Given the description of an element on the screen output the (x, y) to click on. 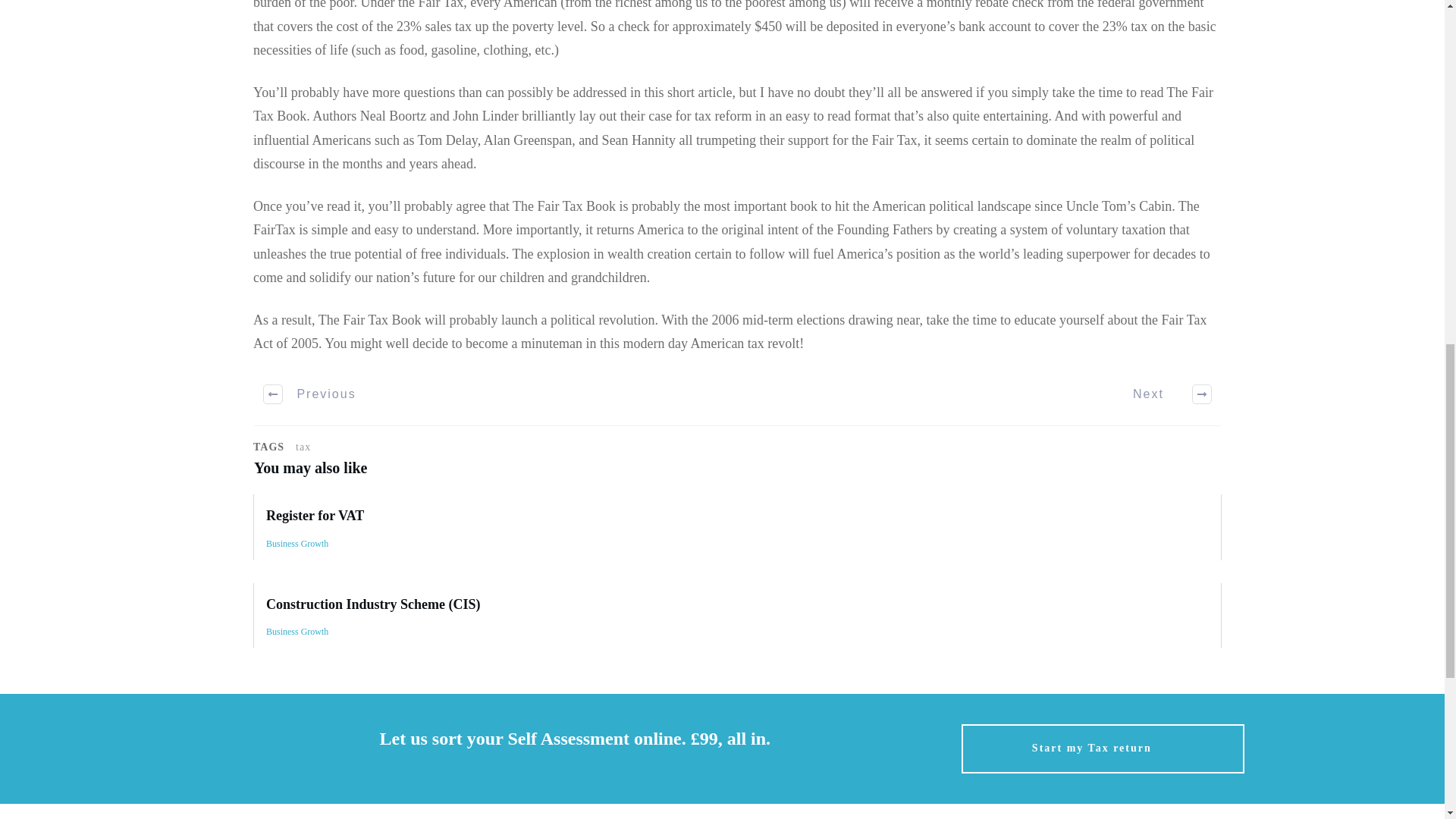
Previous (310, 394)
Business Growth (297, 543)
Business Growth (297, 631)
Start my Tax return (1102, 748)
Business Growth (297, 543)
Business Growth (297, 631)
Next (1163, 394)
Register for VAT (315, 515)
Register for VAT (737, 526)
Register for VAT (315, 515)
